Given the description of an element on the screen output the (x, y) to click on. 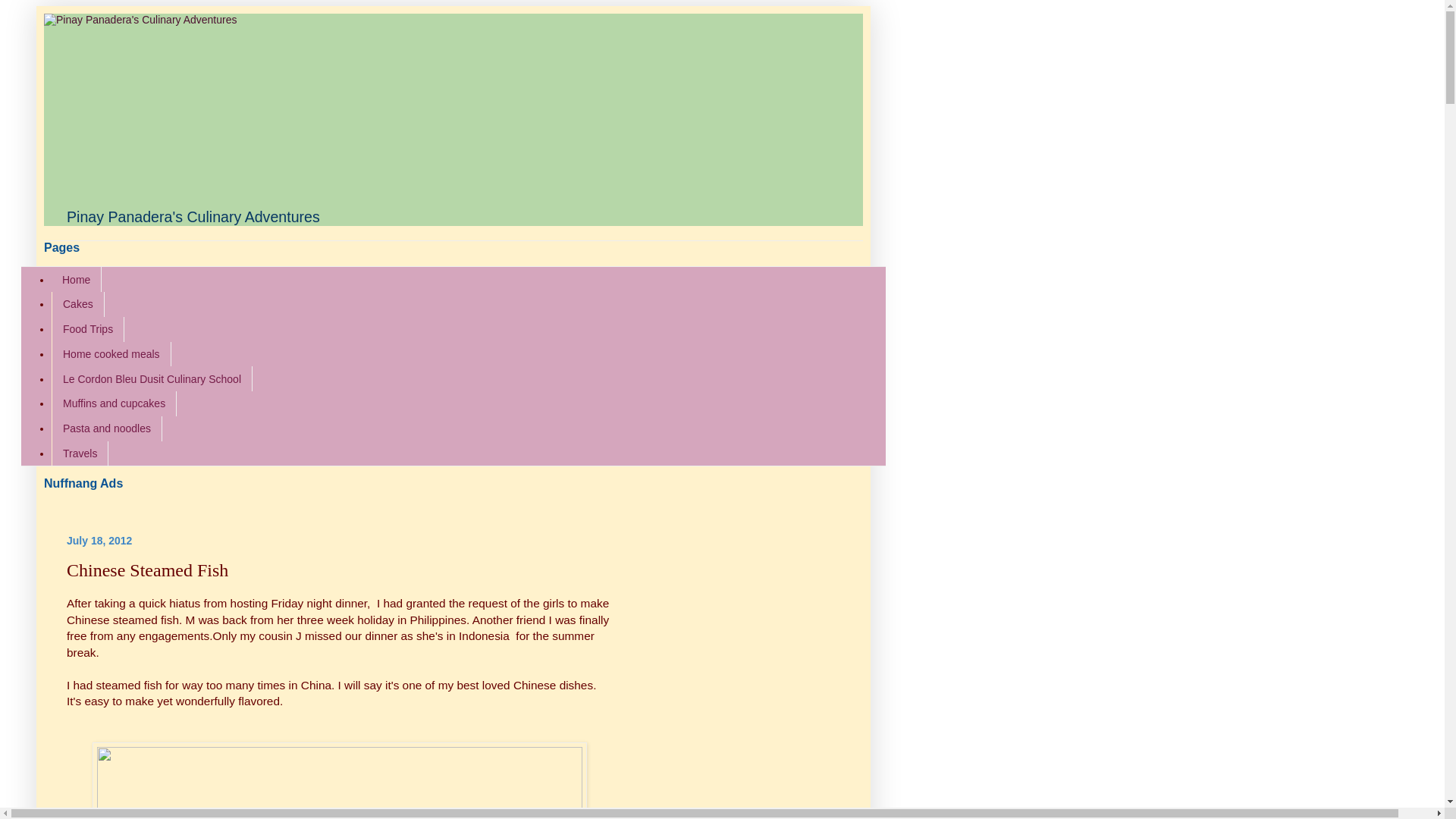
Cakes (77, 303)
Food Trips (86, 329)
Pasta and noodles (105, 428)
Travels (78, 453)
Home (75, 278)
Muffins and cupcakes (113, 403)
Le Cordon Bleu Dusit Culinary School (150, 378)
Home cooked meals (110, 354)
